Given the description of an element on the screen output the (x, y) to click on. 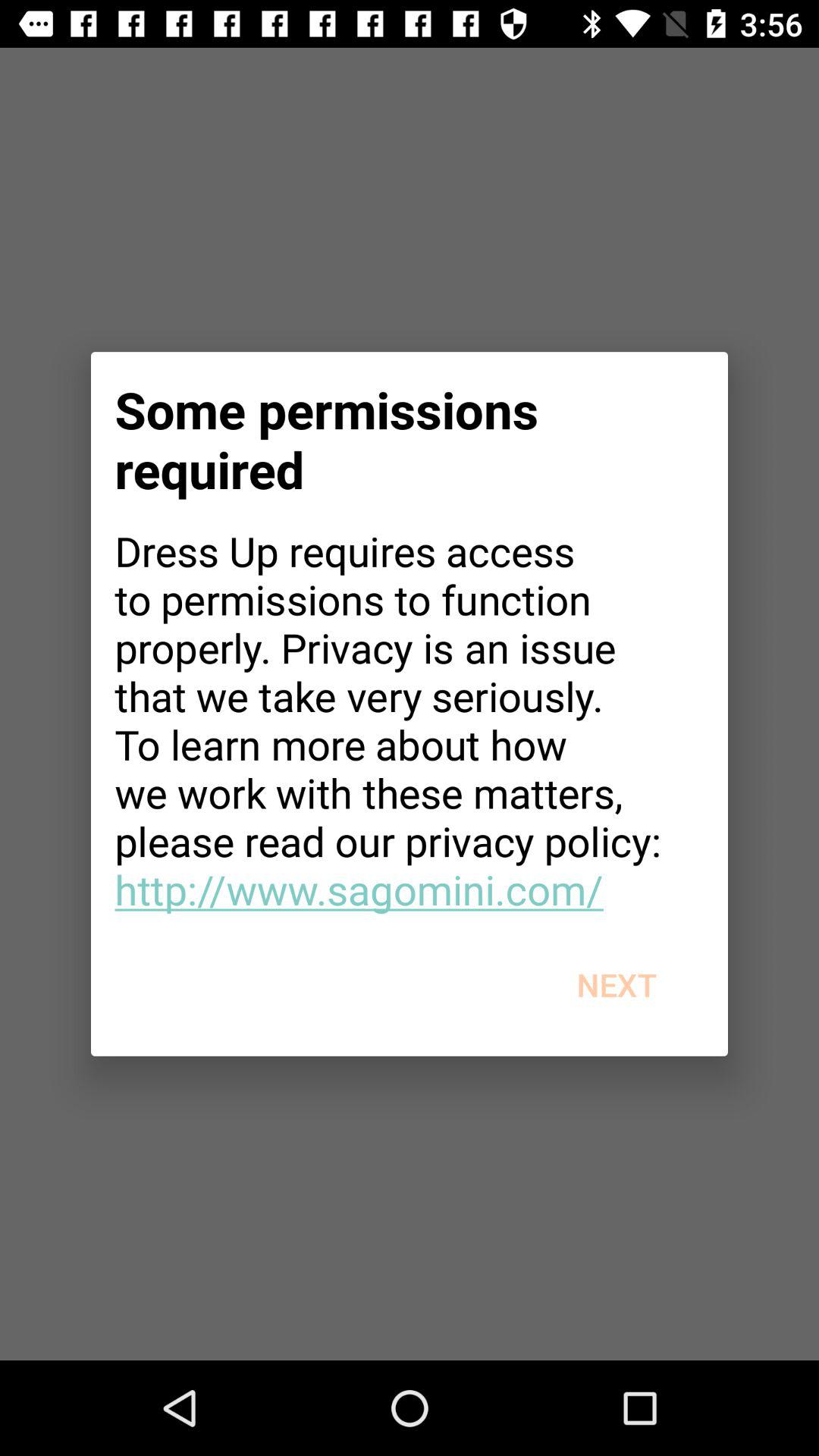
choose the next at the bottom right corner (616, 984)
